Given the description of an element on the screen output the (x, y) to click on. 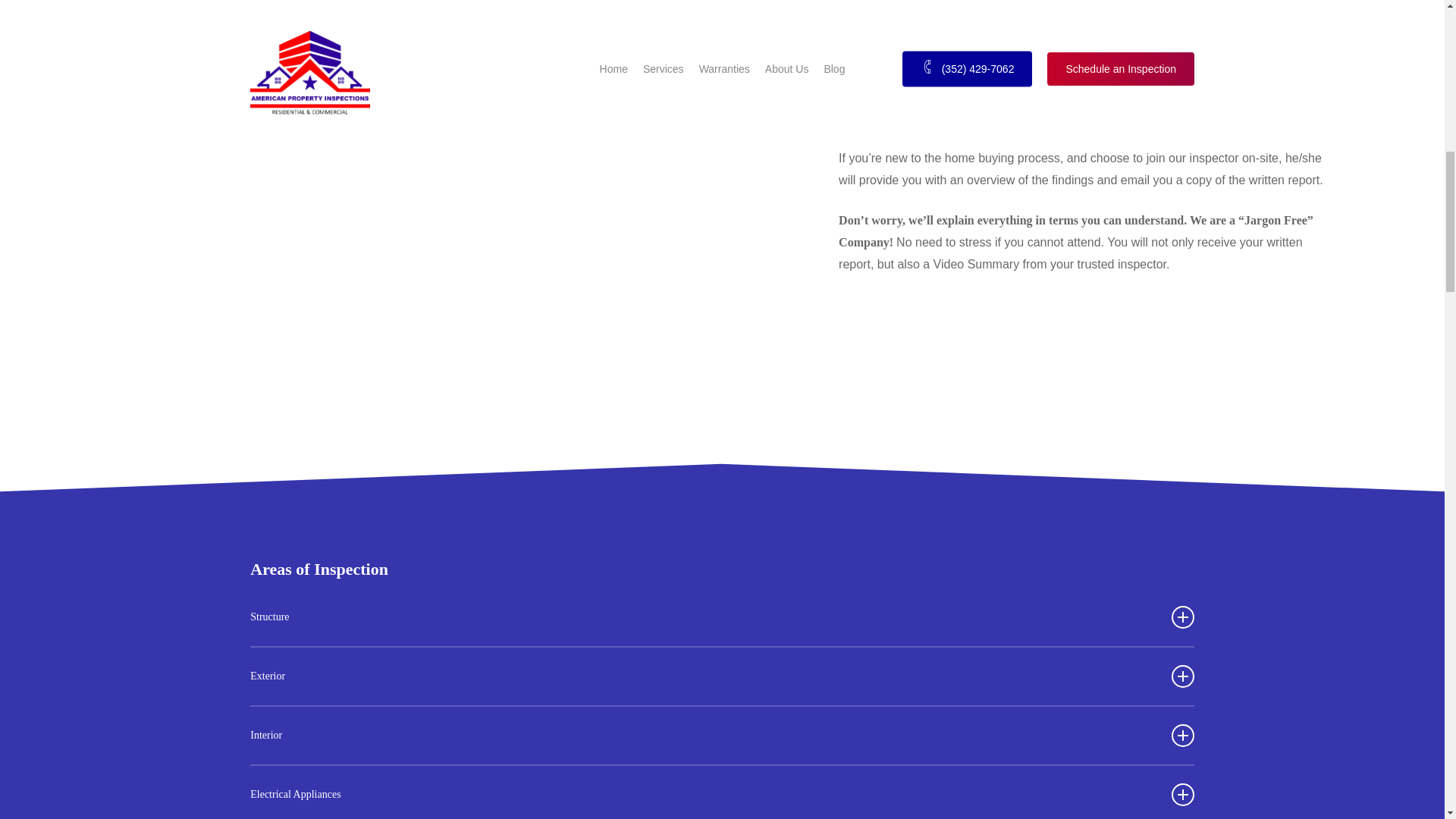
Exterior (721, 676)
Interior (721, 735)
Electrical Appliances (721, 792)
Structure (721, 617)
